Given the description of an element on the screen output the (x, y) to click on. 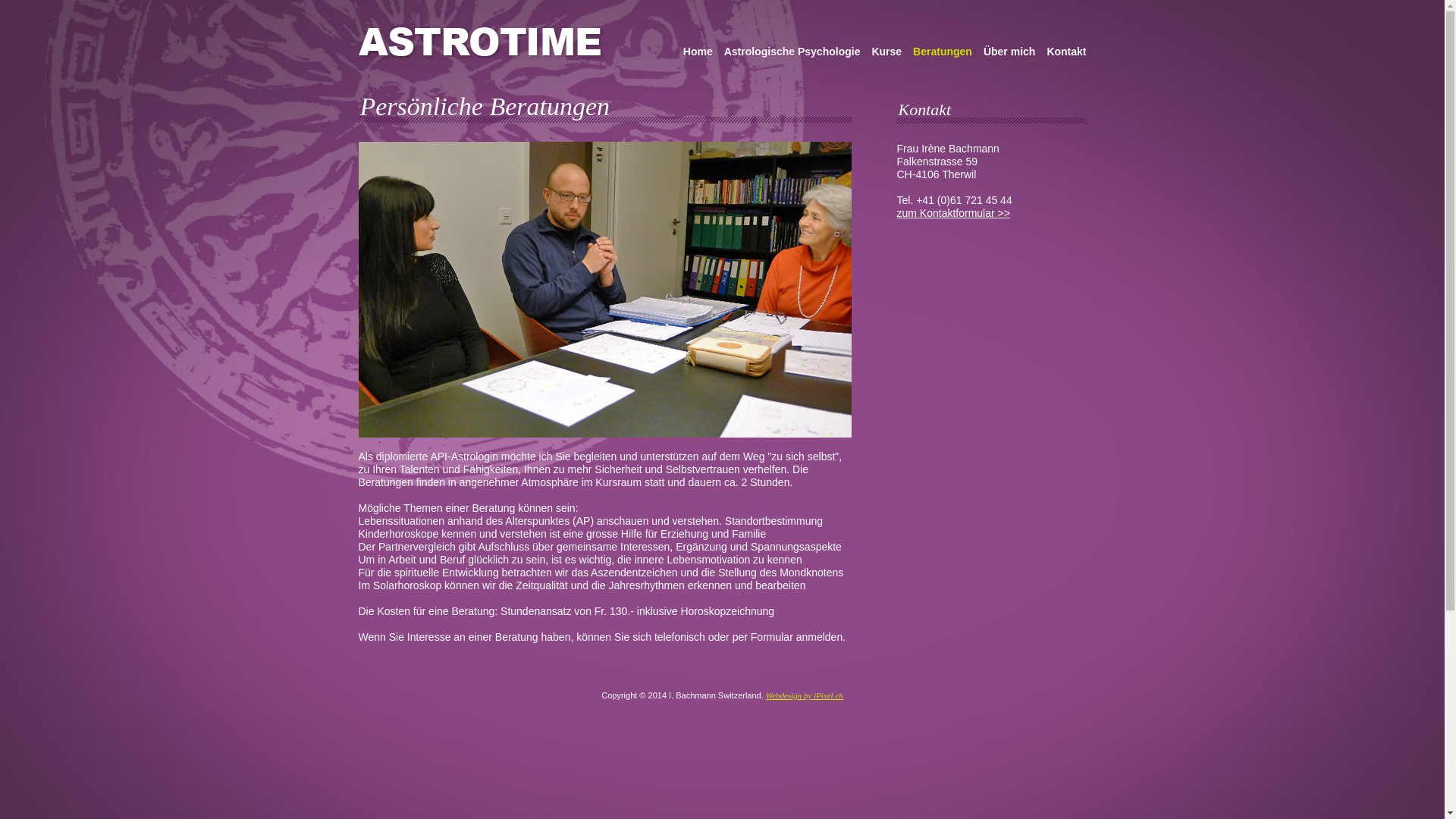
Astrologische Psychologie Element type: text (792, 53)
Kontakt Element type: text (1065, 53)
Kurse Element type: text (886, 53)
Webdesign by iPixel.ch Element type: text (804, 694)
Beratungen Element type: text (942, 53)
zum Kontaktformular >> Element type: text (952, 213)
Home Element type: text (697, 53)
